Given the description of an element on the screen output the (x, y) to click on. 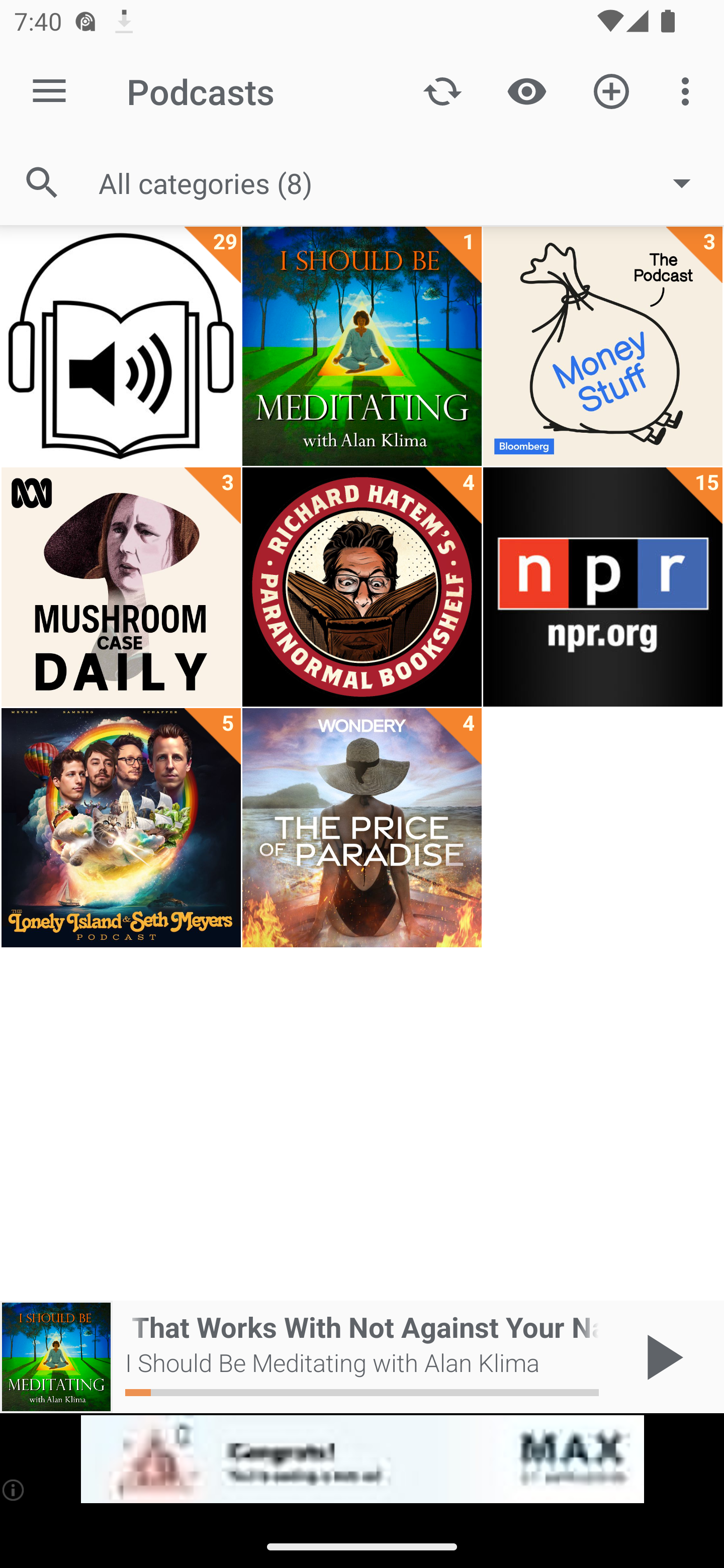
Open navigation sidebar (49, 91)
Update (442, 90)
Show / Hide played content (526, 90)
Add new Podcast (611, 90)
More options (688, 90)
Search (42, 183)
All categories (8) (404, 182)
Audiobooks 29 (121, 346)
Money Stuff: The Podcast 3 (602, 346)
Mushroom Case Daily 3 (121, 587)
Richard Hatem's Paranormal Bookshelf 4 (361, 587)
Stories from NPR : NPR 15 (602, 587)
The Lonely Island and Seth Meyers Podcast 5 (121, 827)
The Price of Paradise 4 (361, 827)
Play / Pause (660, 1356)
app-monetization (362, 1459)
(i) (14, 1489)
